Given the description of an element on the screen output the (x, y) to click on. 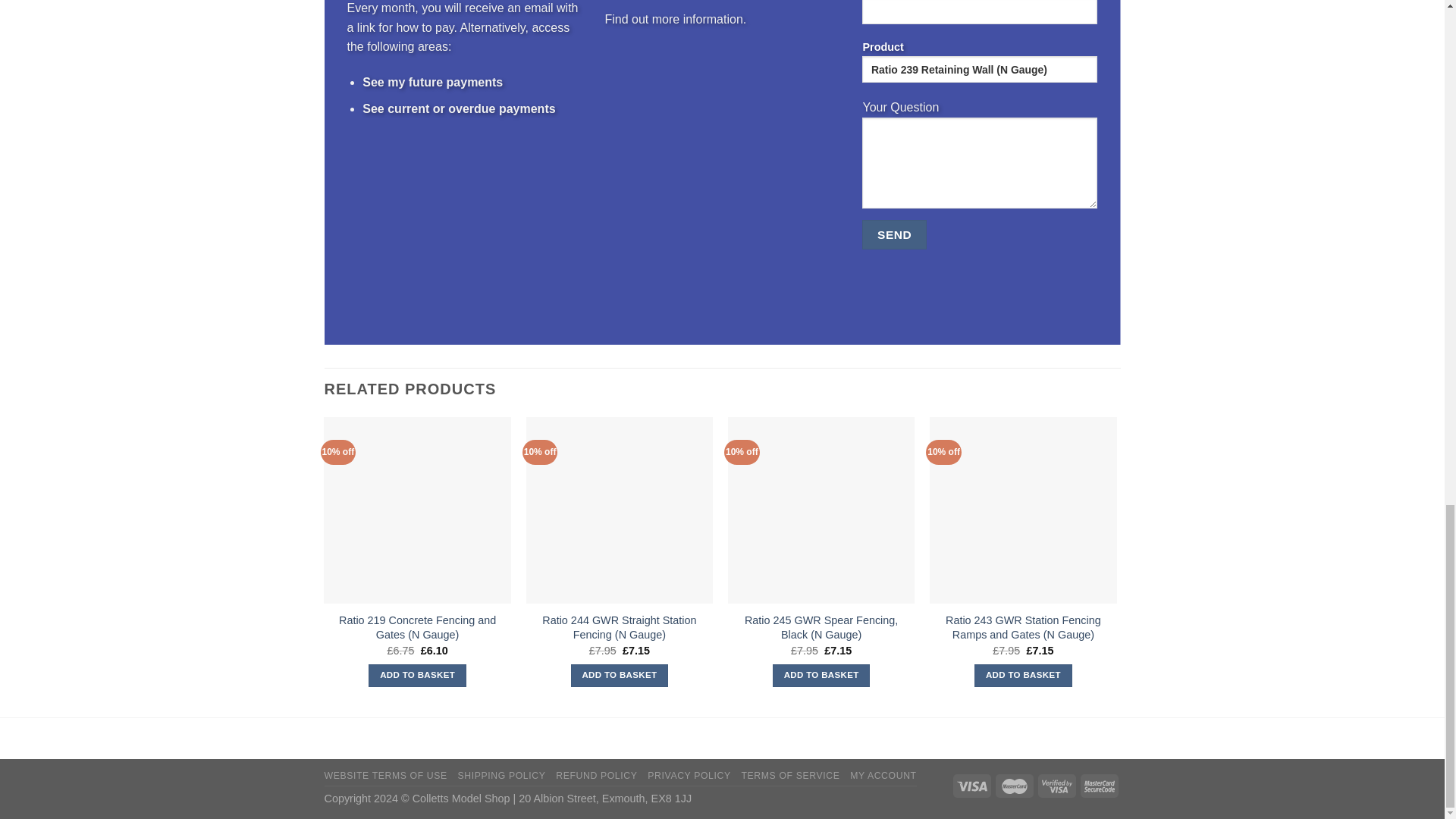
Send (893, 234)
